Given the description of an element on the screen output the (x, y) to click on. 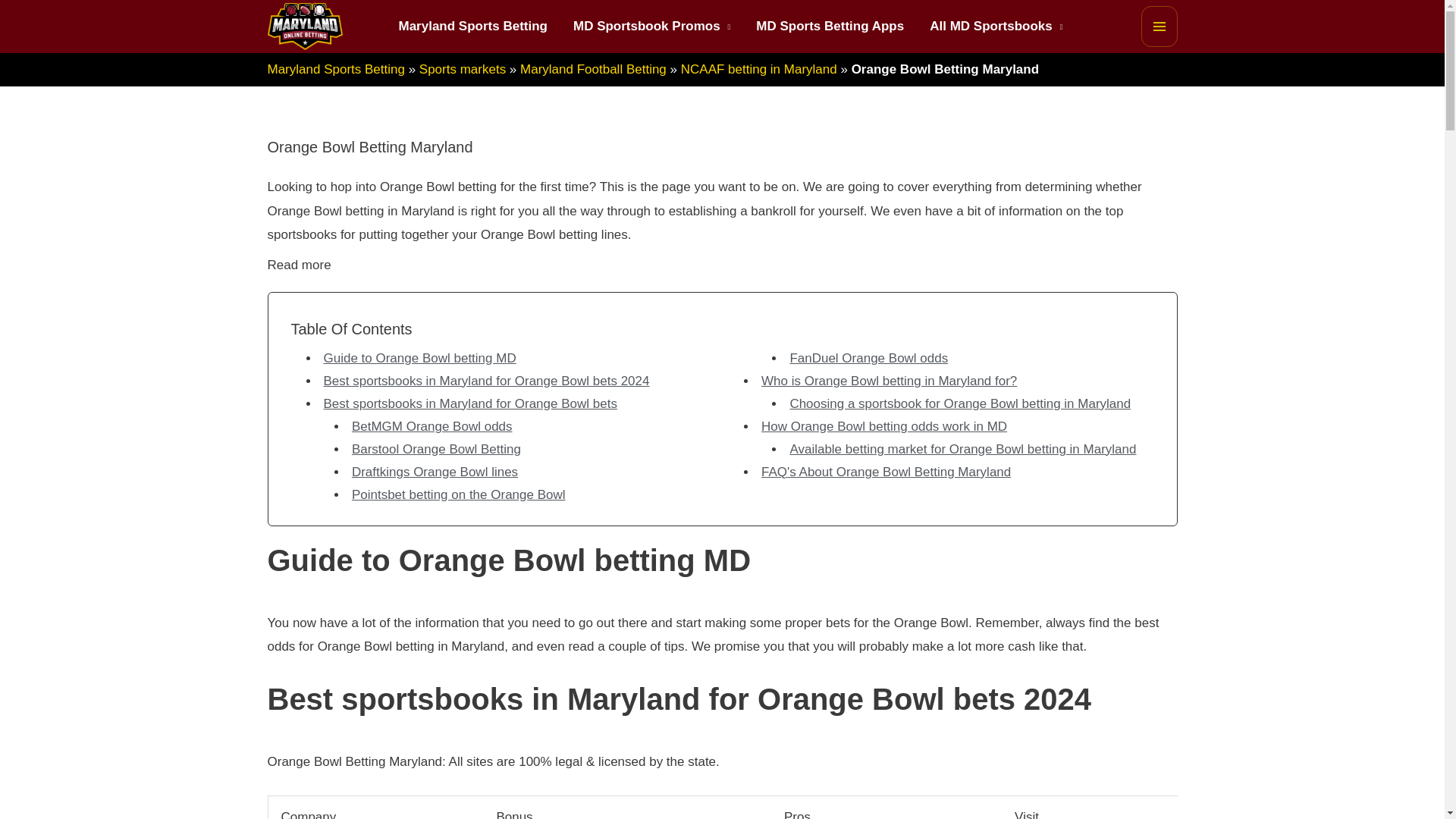
How Orange Bowl betting odds work in MD (884, 426)
Sports markets (462, 69)
Maryland Football Betting (592, 69)
Best sportsbooks in Maryland for Orange Bowl bets (469, 403)
Pointsbet betting on the Orange Bowl (459, 494)
MD Sportsbook Promos (651, 26)
BetMGM Orange Bowl odds (432, 426)
Best sportsbooks in Maryland for Orange Bowl bets 2024 (486, 380)
MD Sports Betting Apps (829, 26)
Draftkings Orange Bowl lines (435, 472)
